Given the description of an element on the screen output the (x, y) to click on. 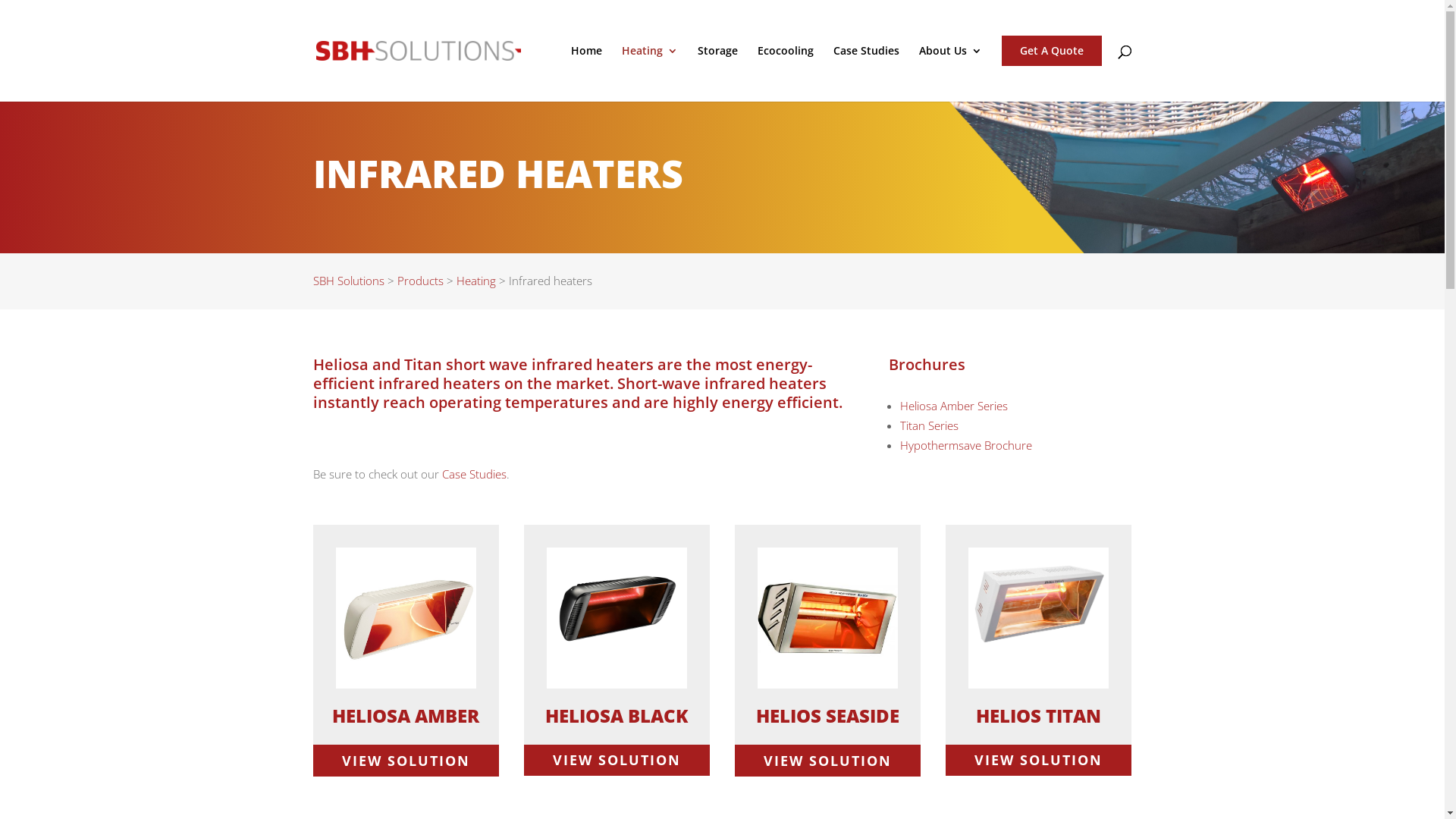
Hypothermsave Brochure Element type: text (966, 444)
Products Element type: text (420, 280)
Get A Quote Element type: text (1051, 50)
Ecocooling Element type: text (784, 73)
Heating Element type: text (649, 73)
Heliosa Amber Series Element type: text (953, 405)
Titan Series Element type: text (929, 425)
Storage Element type: text (717, 73)
SBH Solutions Element type: text (347, 280)
VIEW SOLUTION Element type: text (827, 759)
Case Studies Element type: text (865, 73)
Case Studies Element type: text (473, 473)
VIEW SOLUTION Element type: text (617, 759)
Heating Element type: text (475, 280)
VIEW SOLUTION Element type: text (405, 759)
VIEW SOLUTION Element type: text (1038, 759)
About Us Element type: text (950, 73)
Home Element type: text (585, 73)
